Given the description of an element on the screen output the (x, y) to click on. 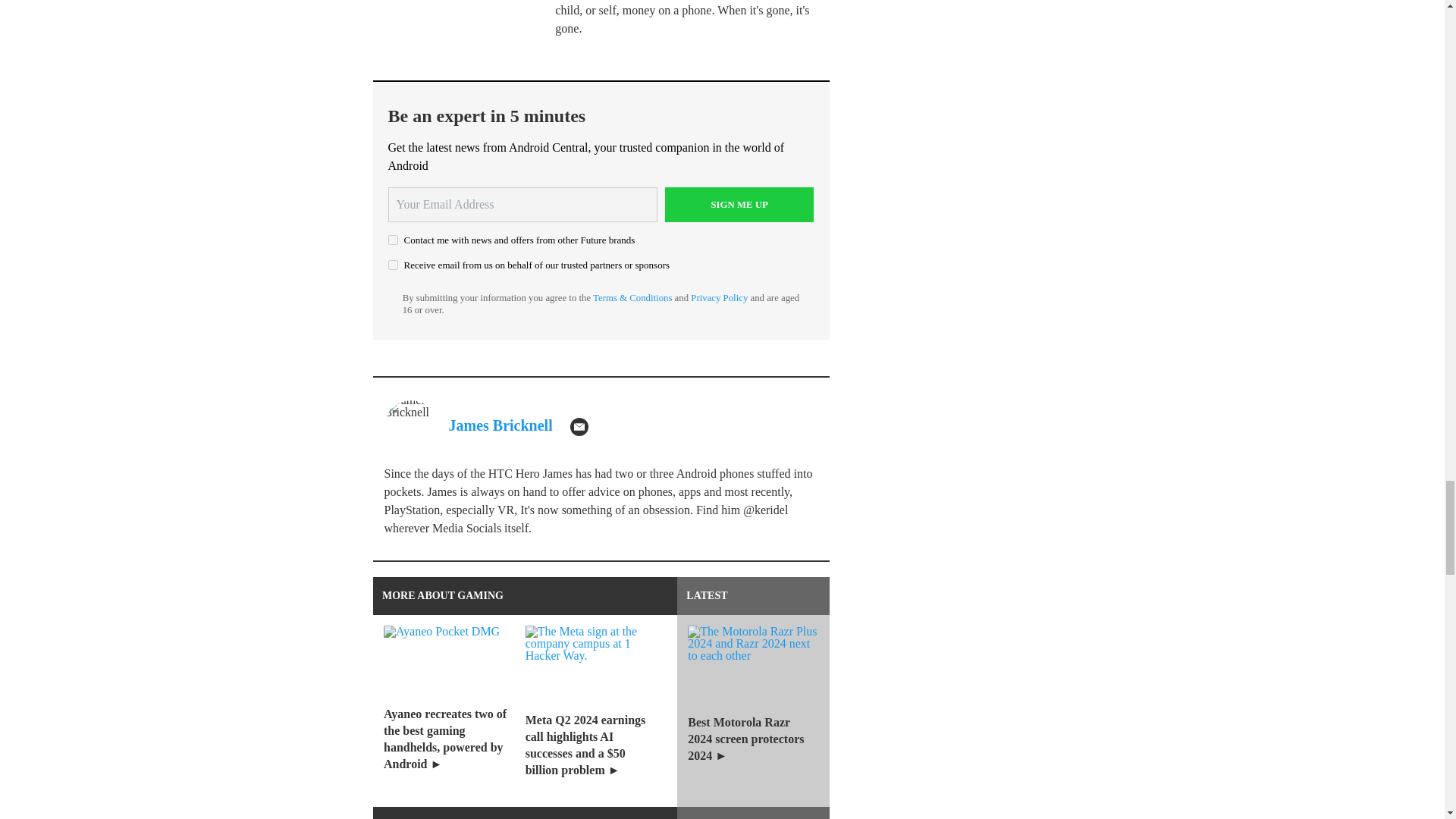
Sign me up (739, 204)
on (392, 239)
on (392, 265)
